Given the description of an element on the screen output the (x, y) to click on. 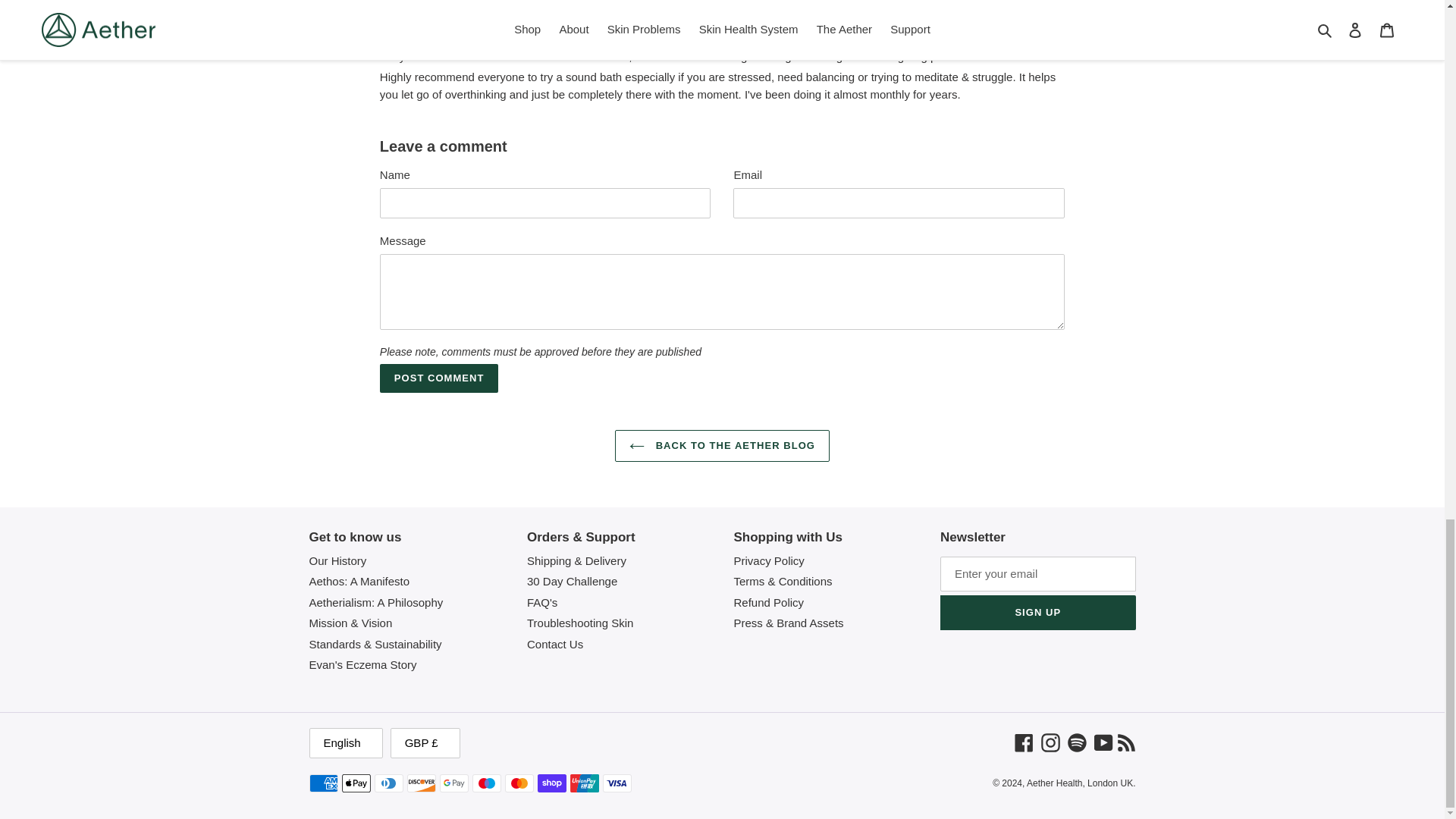
Diners Club (388, 782)
Shop Pay (551, 782)
Visa (616, 782)
American Express (322, 782)
Mastercard (519, 782)
Google Pay (453, 782)
Discover (420, 782)
Maestro (485, 782)
Post comment (439, 378)
Union Pay (584, 782)
